Given the description of an element on the screen output the (x, y) to click on. 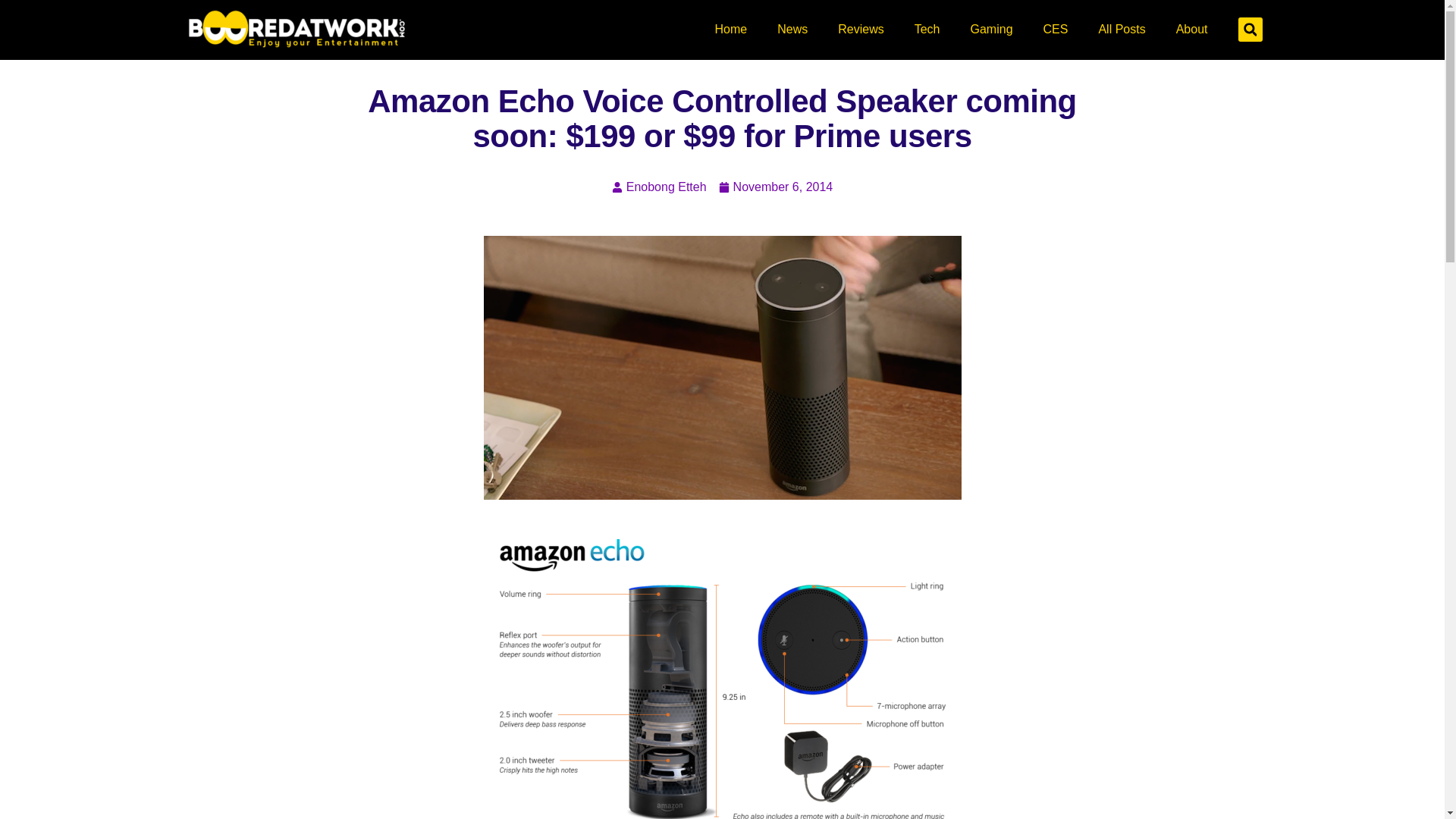
Gaming (991, 29)
All Posts (1121, 29)
Home (731, 29)
Reviews (860, 29)
Tech (927, 29)
November 6, 2014 (775, 187)
CES (1055, 29)
About (1191, 29)
News (791, 29)
